Given the description of an element on the screen output the (x, y) to click on. 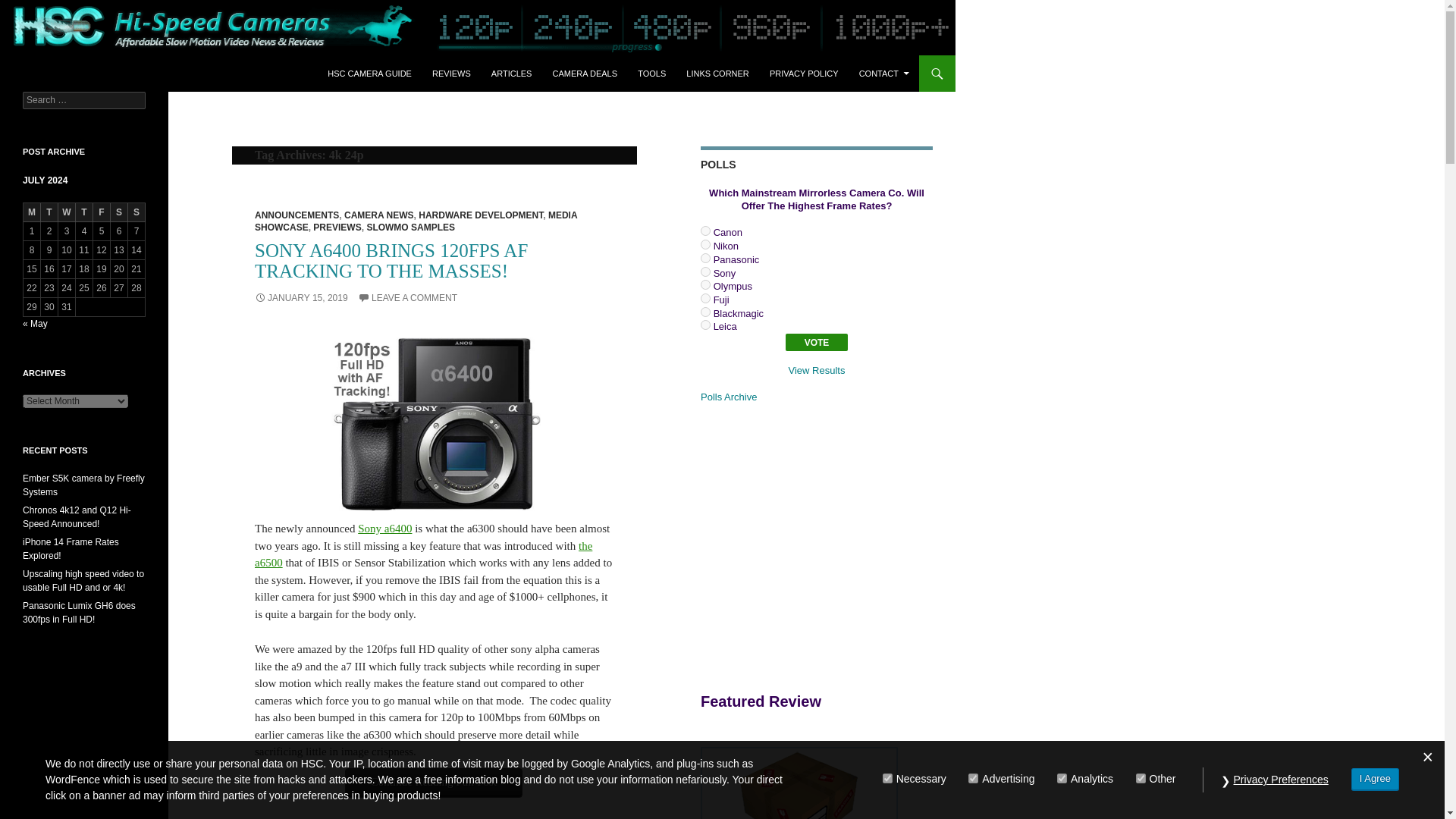
ARTICLES (511, 73)
Other (1140, 777)
Advertisement (827, 545)
View Results Of This Poll (817, 369)
Hi Speed Cameras (82, 73)
52 (705, 271)
53 (705, 284)
Advertising (973, 777)
PREVIEWS (337, 226)
   Vote    (817, 342)
REVIEWS (451, 73)
HARDWARE DEVELOPMENT (481, 214)
Monday (31, 212)
49 (705, 230)
ANNOUNCEMENTS (296, 214)
